Given the description of an element on the screen output the (x, y) to click on. 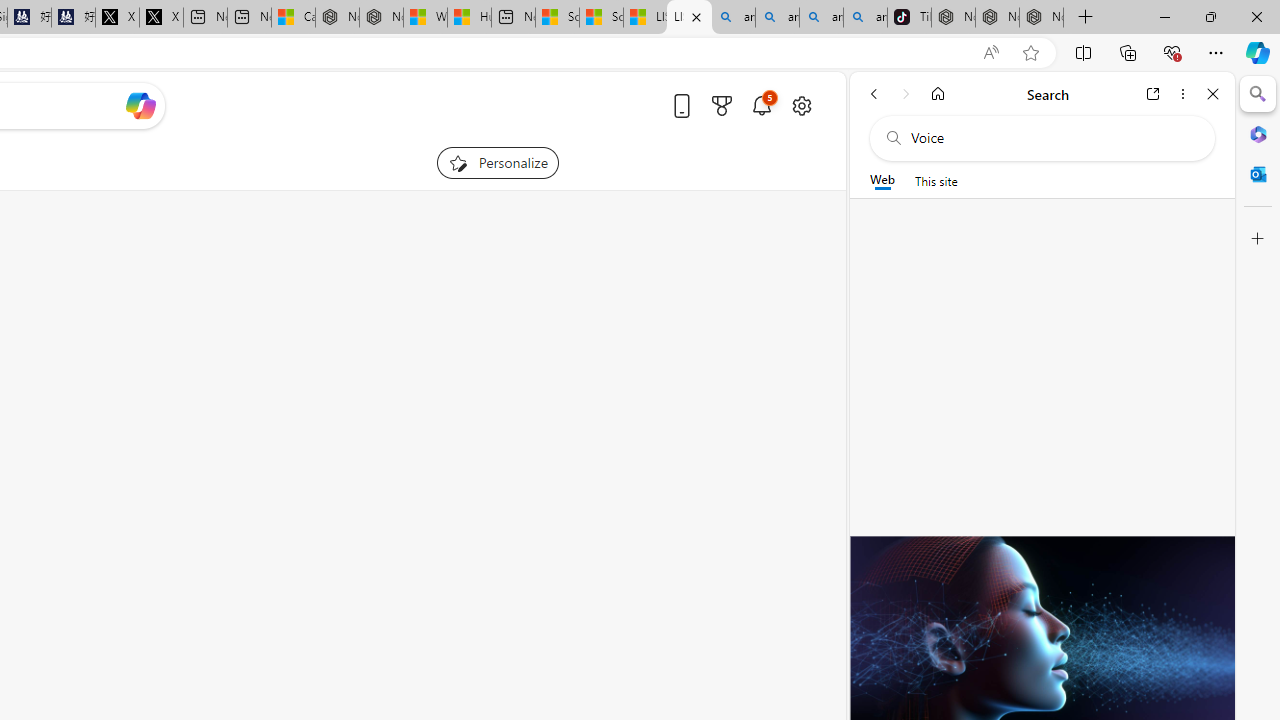
Customize (1258, 239)
